Given the description of an element on the screen output the (x, y) to click on. 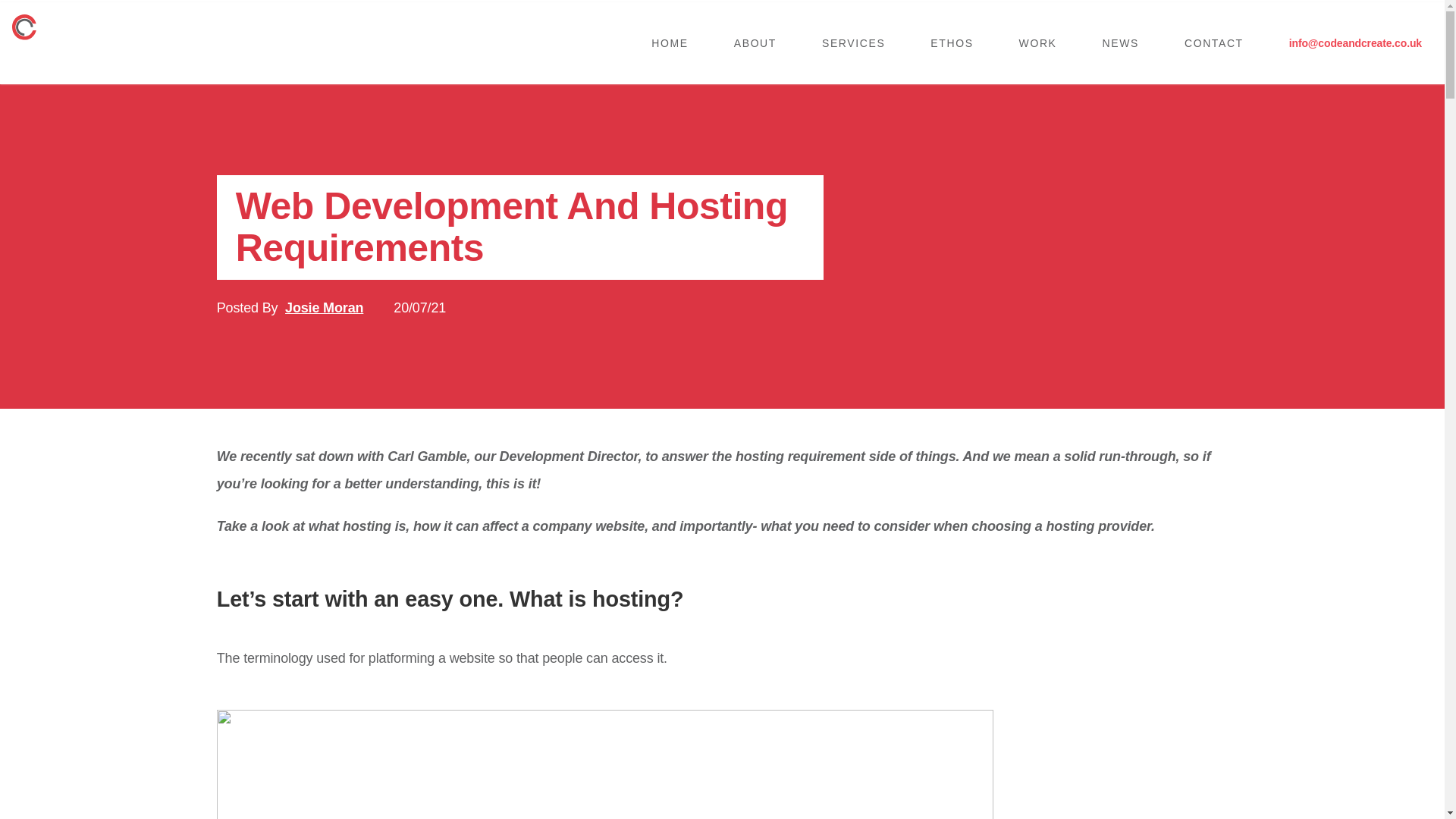
Josie Moran (323, 307)
The home of Code and Create (23, 27)
HOME (669, 43)
SERVICES (853, 43)
The home of Code and Create (24, 26)
CONTACT (1213, 43)
ETHOS (951, 43)
ABOUT (755, 43)
More from Josie Moran (323, 307)
WORK (1037, 43)
